Given the description of an element on the screen output the (x, y) to click on. 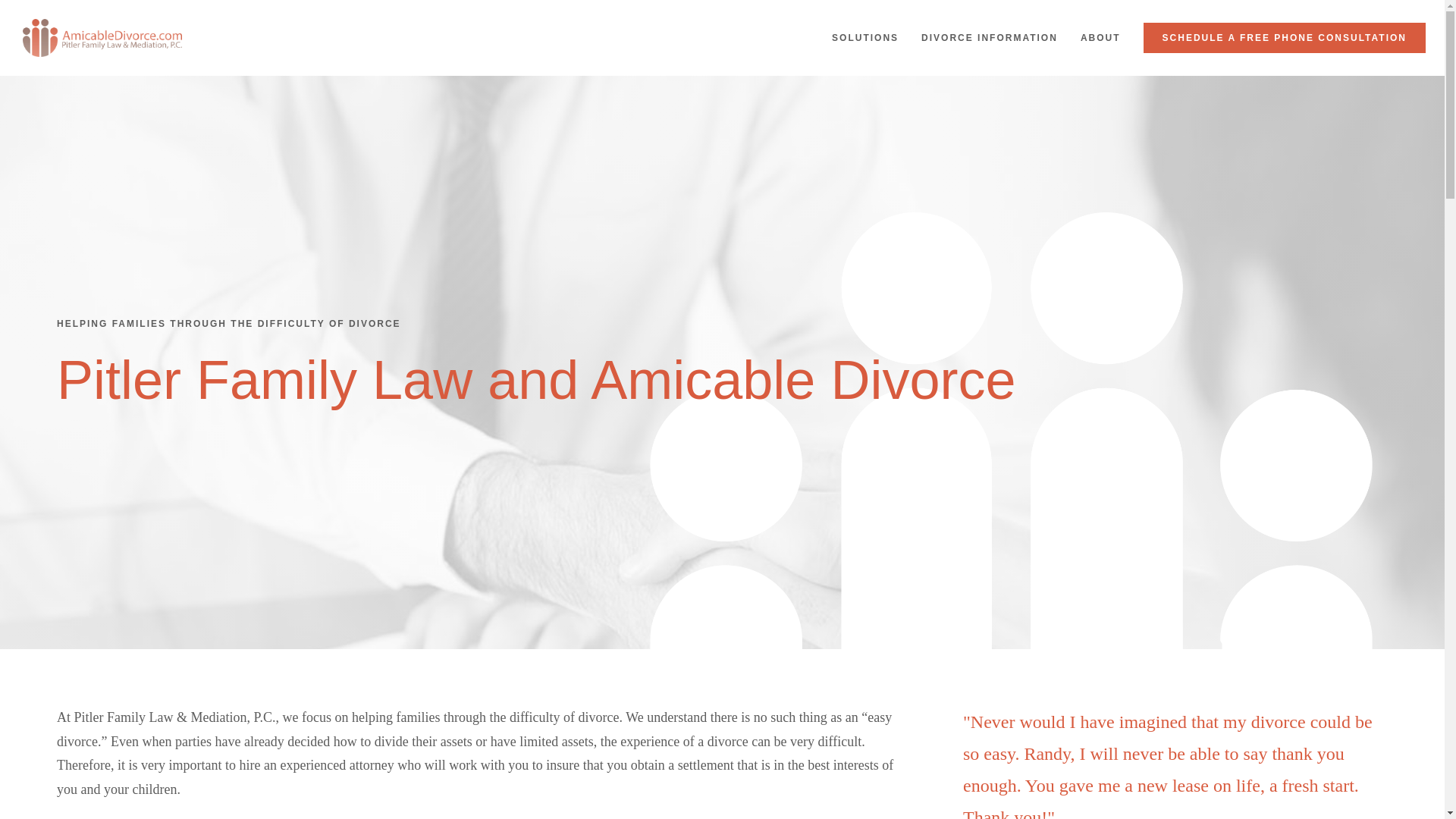
SCHEDULE A FREE PHONE CONSULTATION (1283, 37)
